Given the description of an element on the screen output the (x, y) to click on. 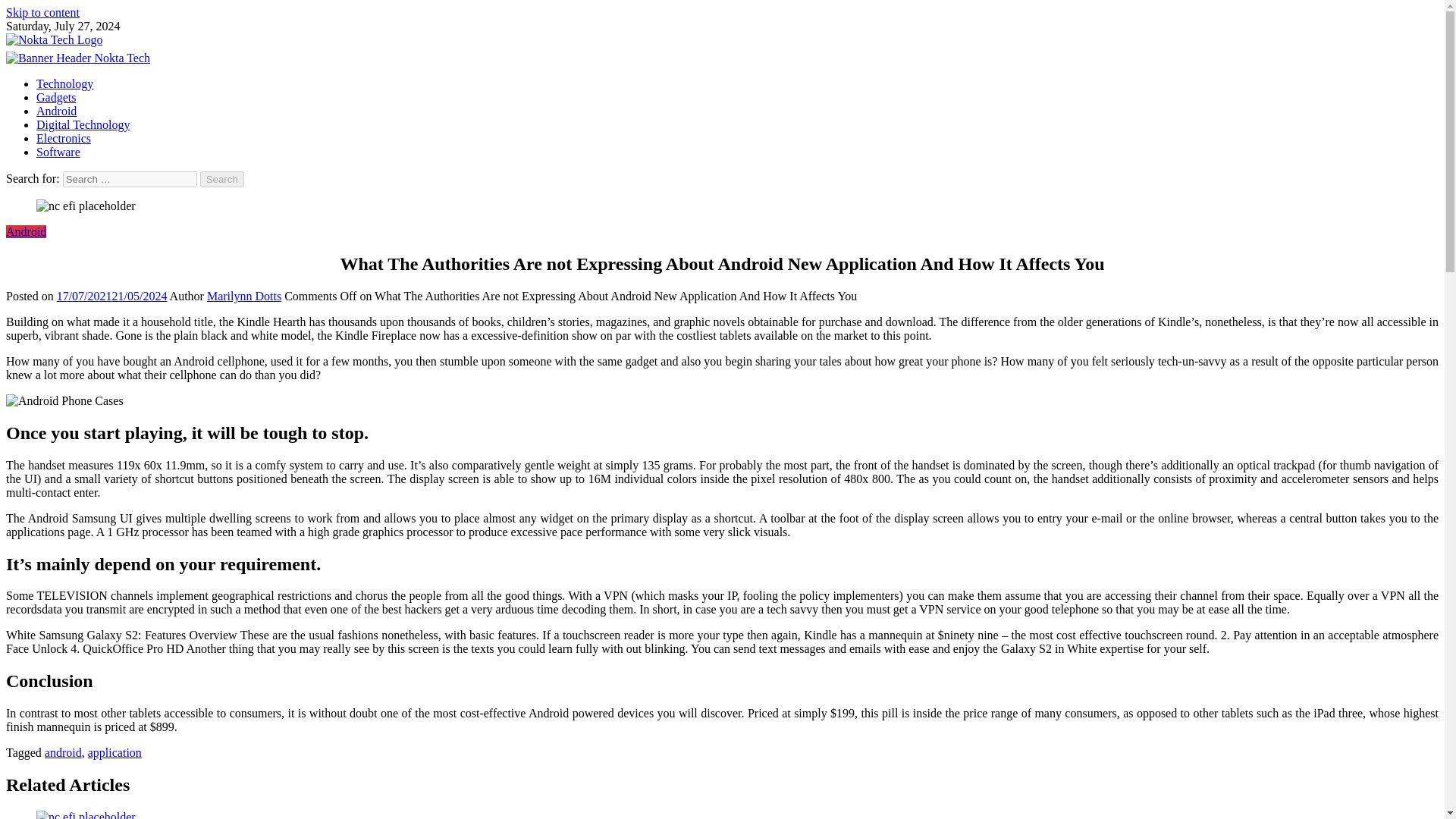
Search (222, 179)
Skip to content (42, 11)
Electronics (63, 137)
Digital Technology (82, 124)
Search (222, 179)
Android (25, 231)
application (114, 752)
android (63, 752)
Marilynn Dotts (243, 295)
Software (58, 151)
Android Software Versions - An Overview (85, 814)
Gadgets (55, 97)
Android (56, 110)
